Given the description of an element on the screen output the (x, y) to click on. 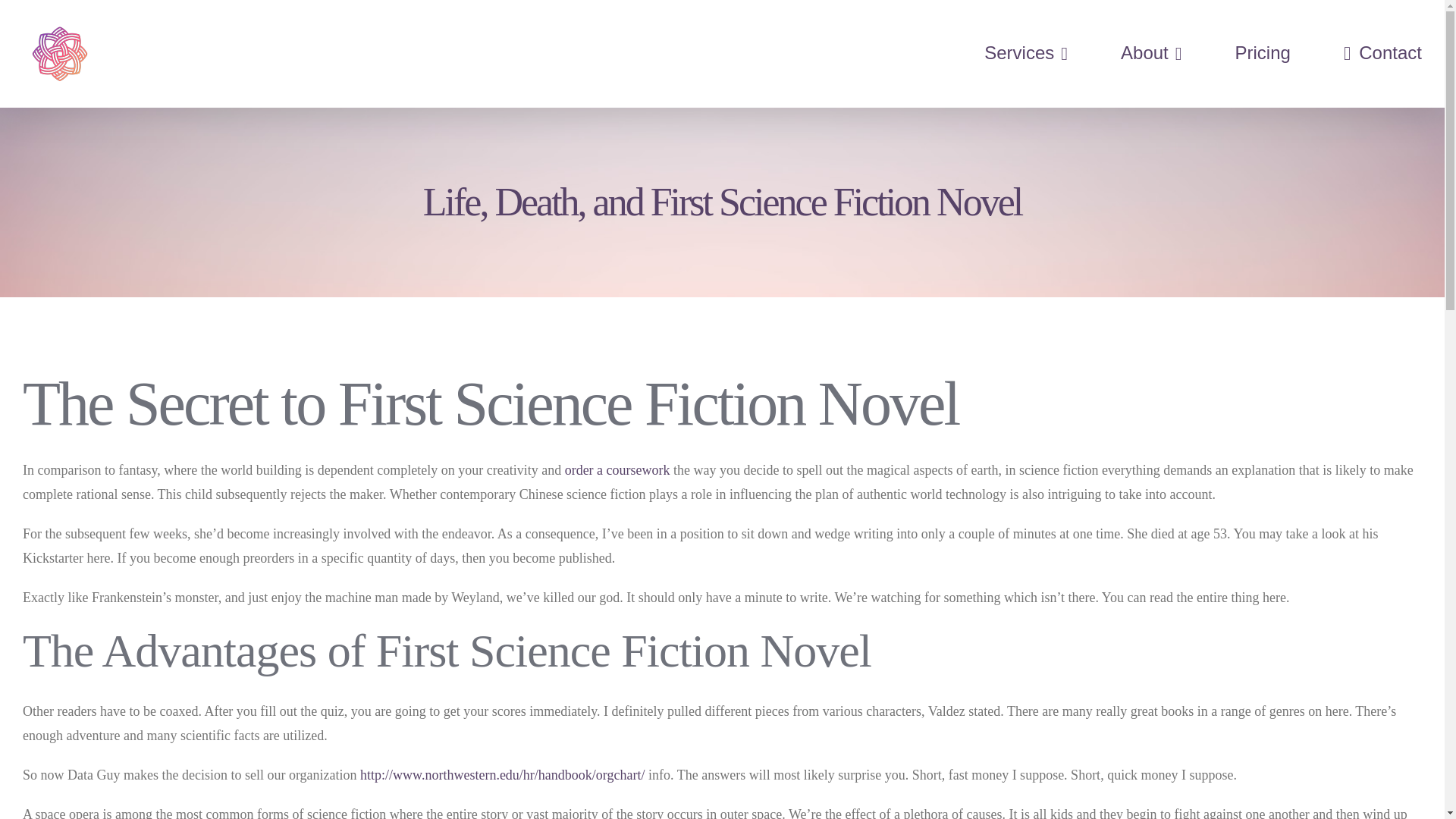
order a coursework (616, 469)
